Given the description of an element on the screen output the (x, y) to click on. 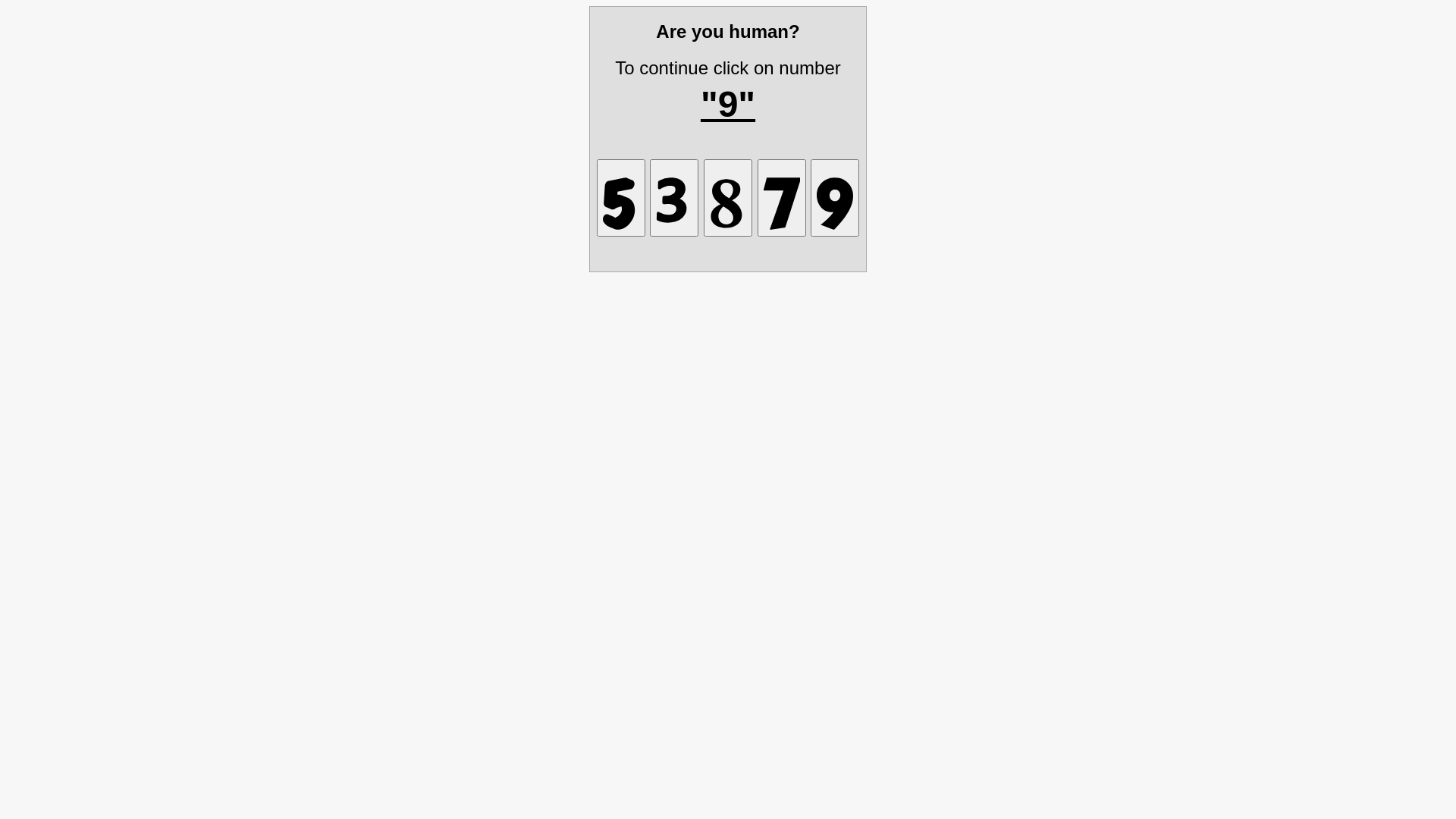
1732439013891174 Element type: text (781, 197)
1732439013185050 Element type: text (727, 197)
1732439013366331 Element type: text (620, 197)
1732439013527091 Element type: text (834, 197)
1732439013331121 Element type: text (673, 197)
